Given the description of an element on the screen output the (x, y) to click on. 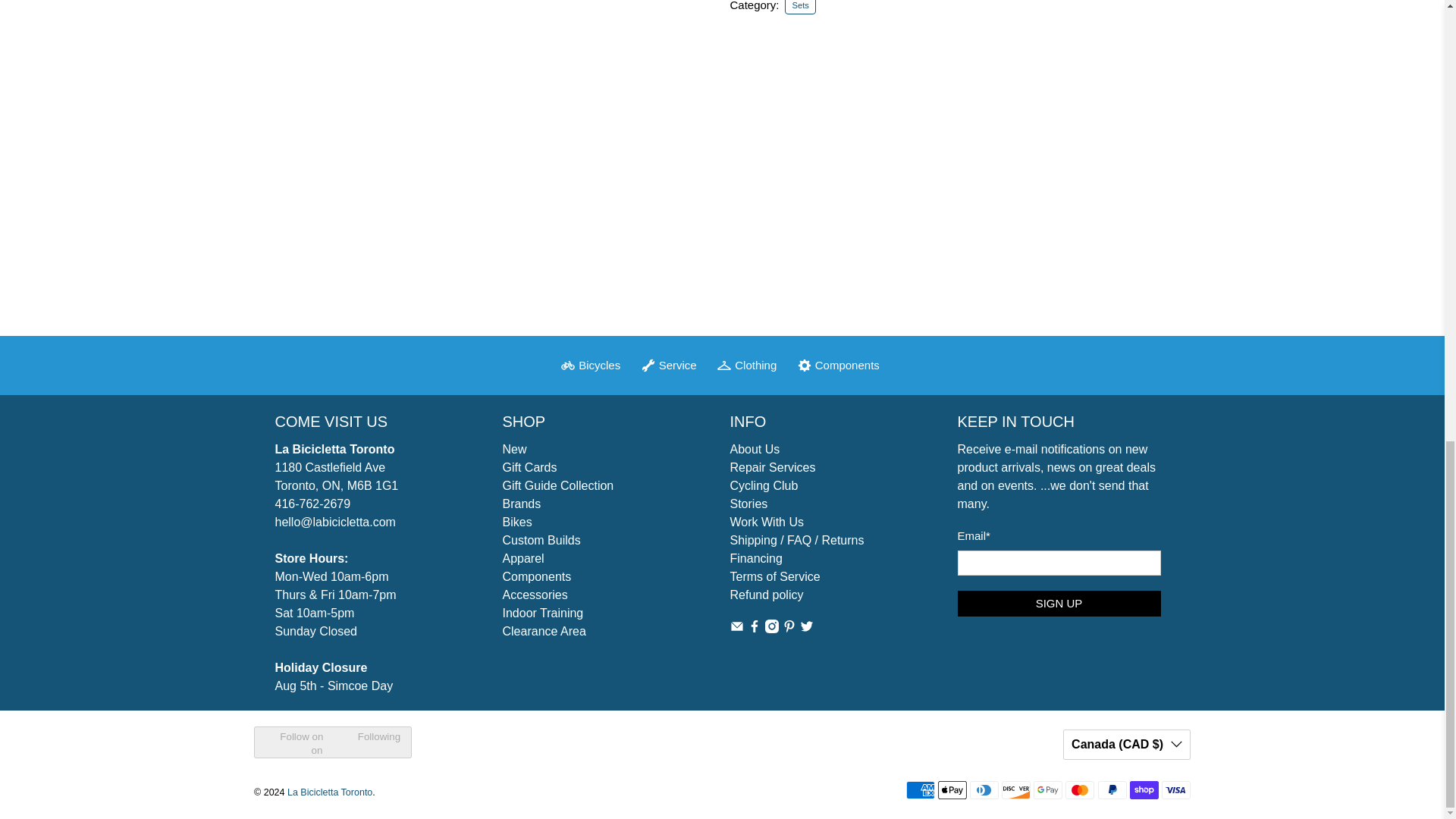
Apple Pay (951, 790)
Discover (1015, 790)
American Express (919, 790)
Diners Club (983, 790)
